Given the description of an element on the screen output the (x, y) to click on. 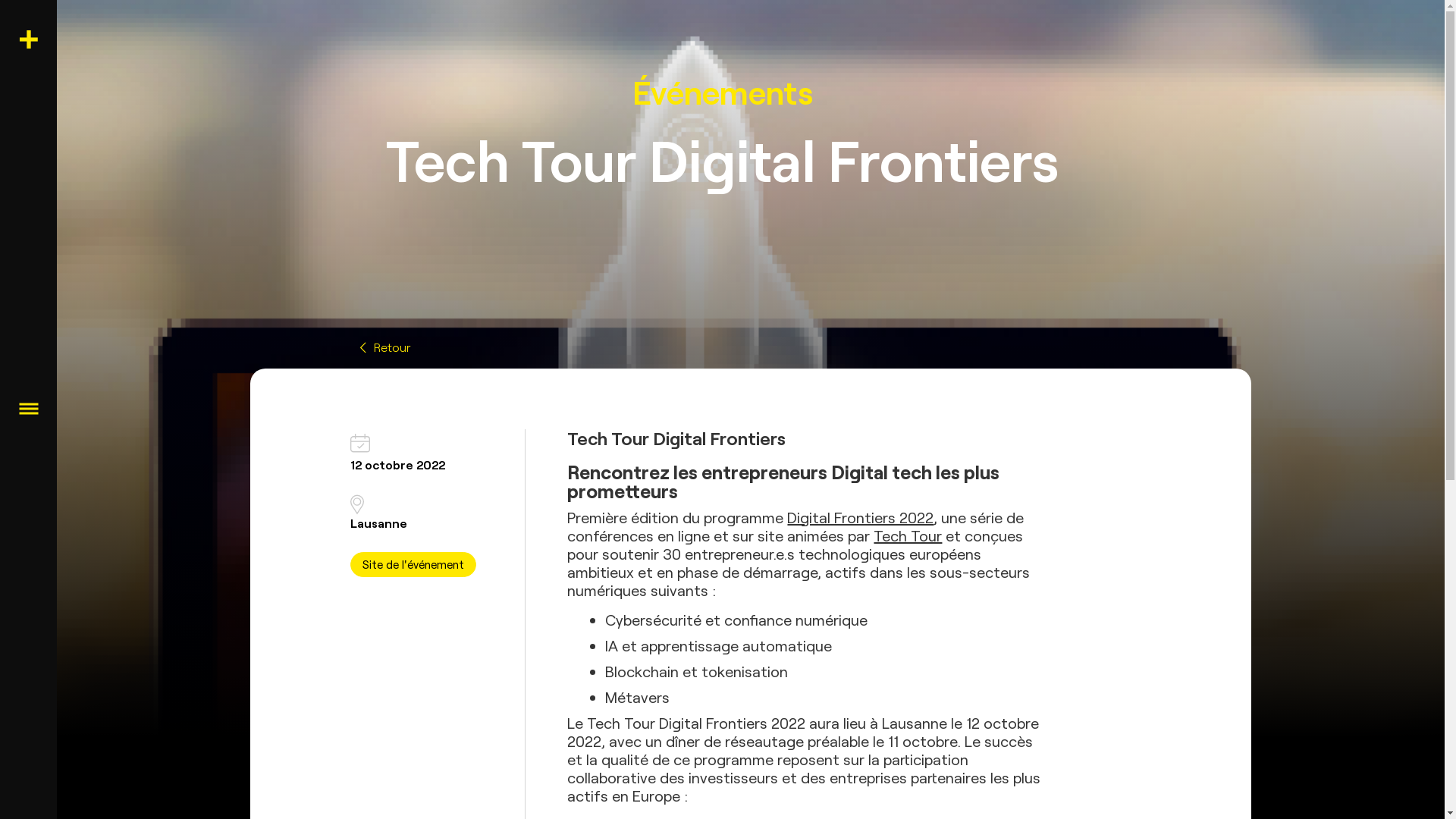
Retour Element type: text (750, 347)
Tech Tour Element type: text (907, 536)
Digital Frontiers 2022 Element type: text (860, 517)
